Given the description of an element on the screen output the (x, y) to click on. 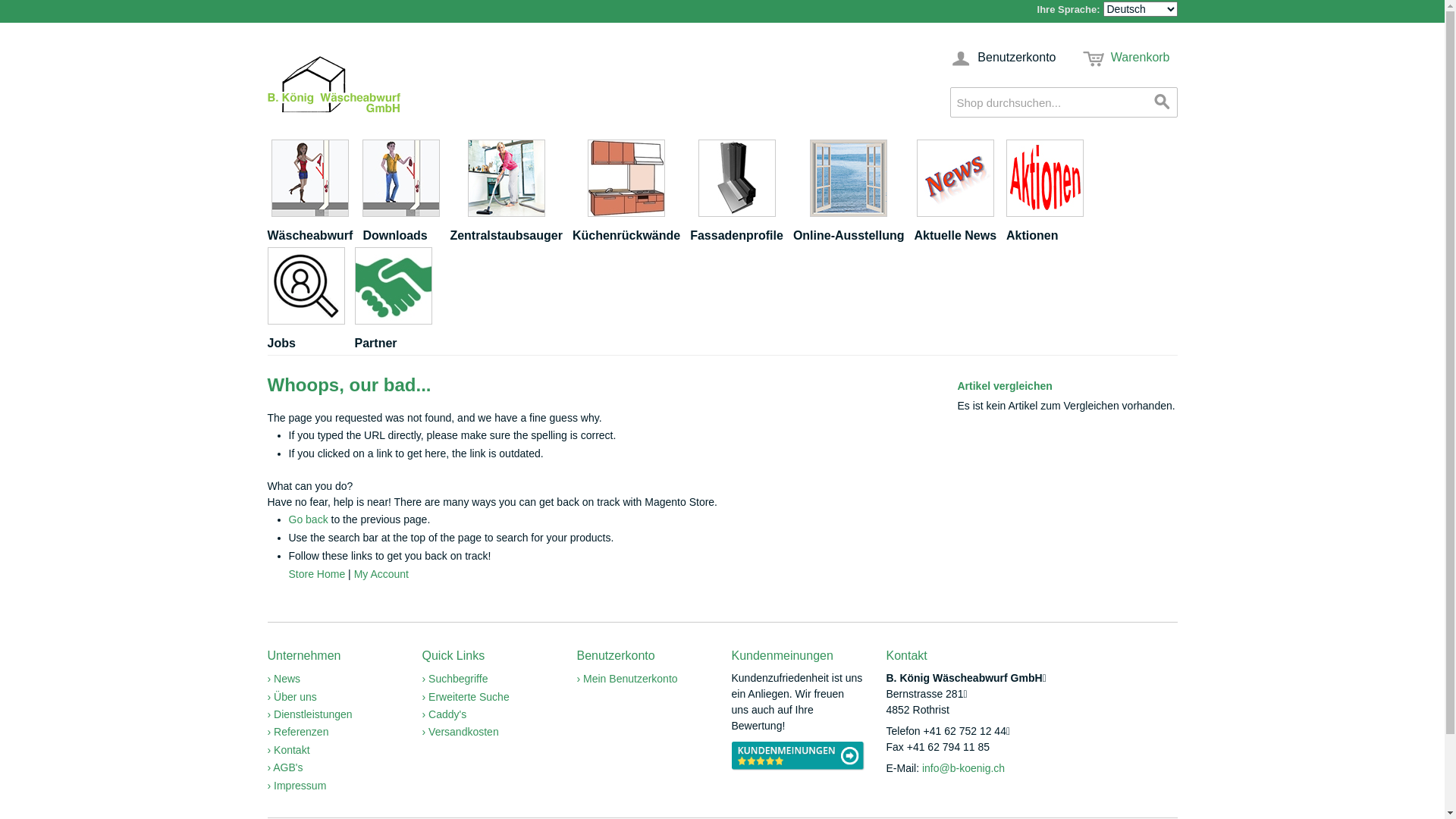
Partner Element type: text (398, 300)
Dienstleistungen Element type: text (308, 714)
Go back Element type: text (307, 519)
News Element type: text (283, 678)
Fassadenprofile Element type: text (741, 193)
Jobs Element type: text (310, 300)
Store Home Element type: text (316, 573)
Suche Element type: hover (1161, 102)
Erweiterte Suche Element type: text (464, 696)
Versandkosten Element type: text (459, 731)
Downloads Element type: text (405, 193)
Aktionen Element type: text (1049, 193)
Suchbegriffe Element type: text (454, 678)
AGB's Element type: text (284, 767)
info@b-koenig.ch Element type: text (963, 768)
Online-Ausstellung Element type: text (853, 193)
Caddy's Element type: text (443, 714)
Referenzen Element type: text (297, 731)
Mein Benutzerkonto Element type: text (626, 678)
Aktuelle News Element type: text (960, 193)
Kontakt Element type: text (287, 749)
My Account Element type: text (381, 573)
Warenkorb Element type: text (1126, 58)
Zentralstaubsauger Element type: text (510, 193)
Benutzerkonto Element type: text (1002, 58)
Impressum Element type: text (296, 785)
